Given the description of an element on the screen output the (x, y) to click on. 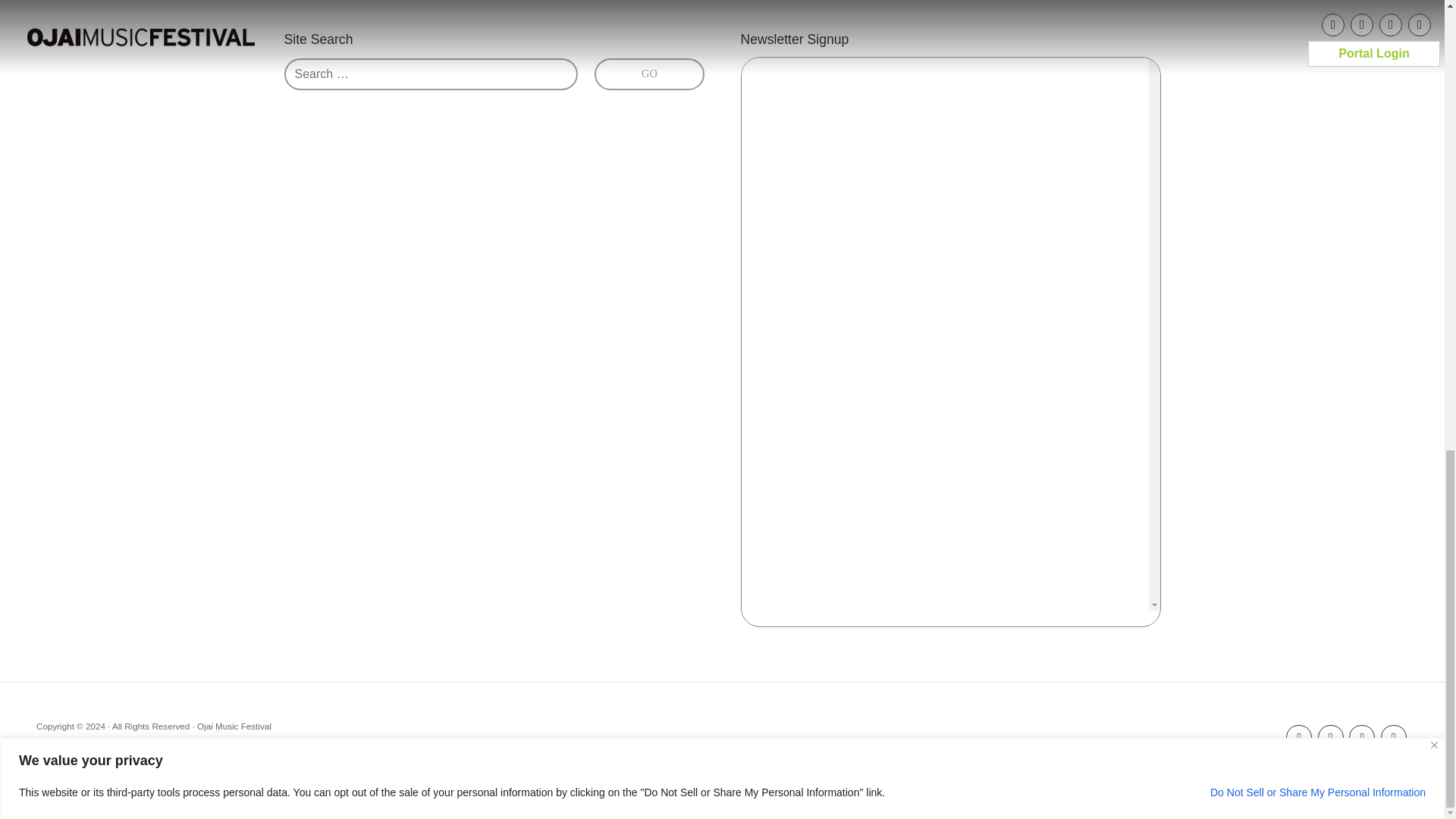
Go (648, 74)
